Given the description of an element on the screen output the (x, y) to click on. 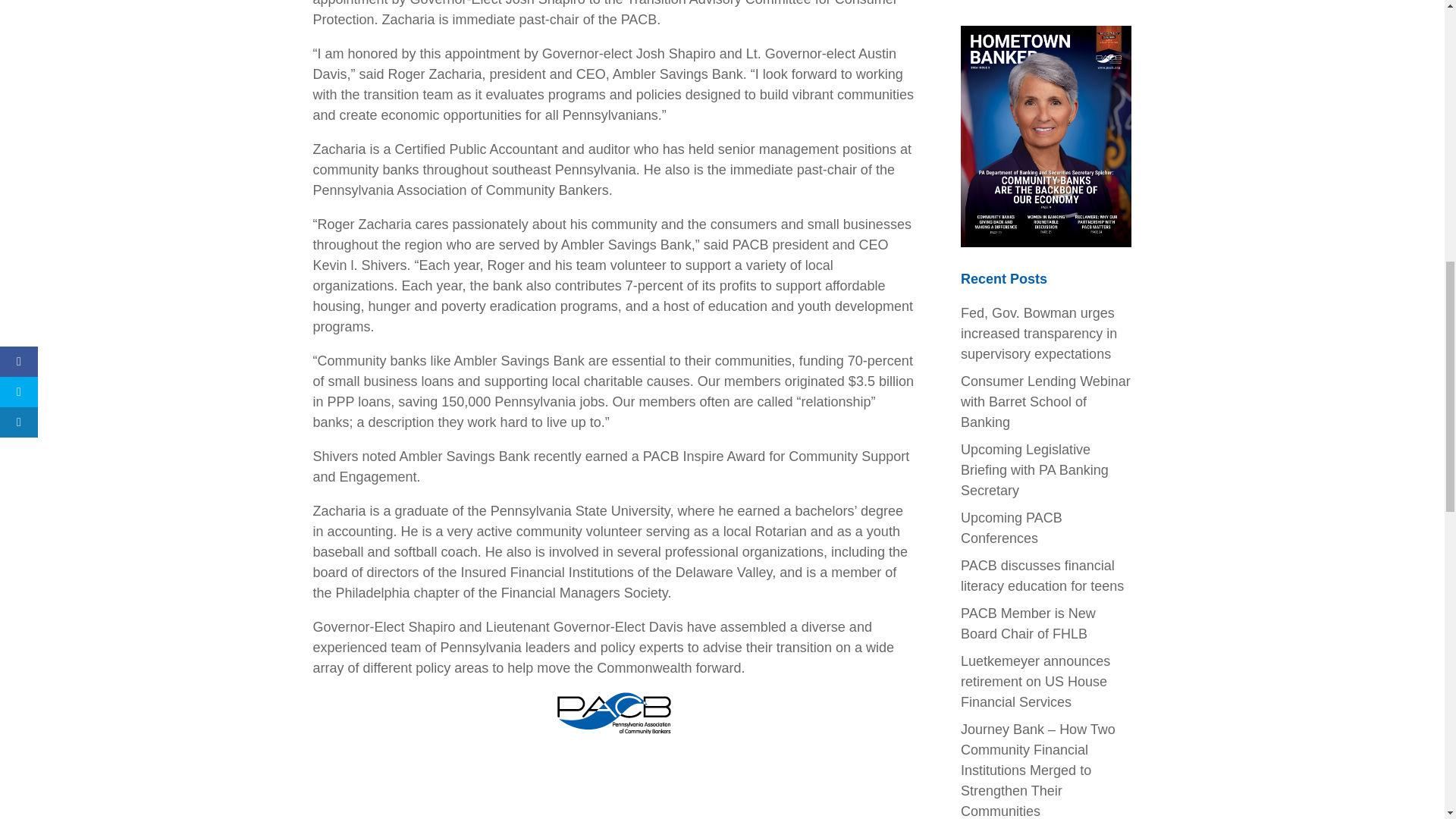
Consumer Lending Webinar with Barret School of Banking (1045, 401)
Upcoming PACB Conferences  (1011, 528)
PACB discusses financial literacy education for teens (1042, 575)
PACB Member is New Board Chair of FHLB (1028, 623)
Upcoming Legislative Briefing with PA Banking Secretary  (1034, 469)
